Given the description of an element on the screen output the (x, y) to click on. 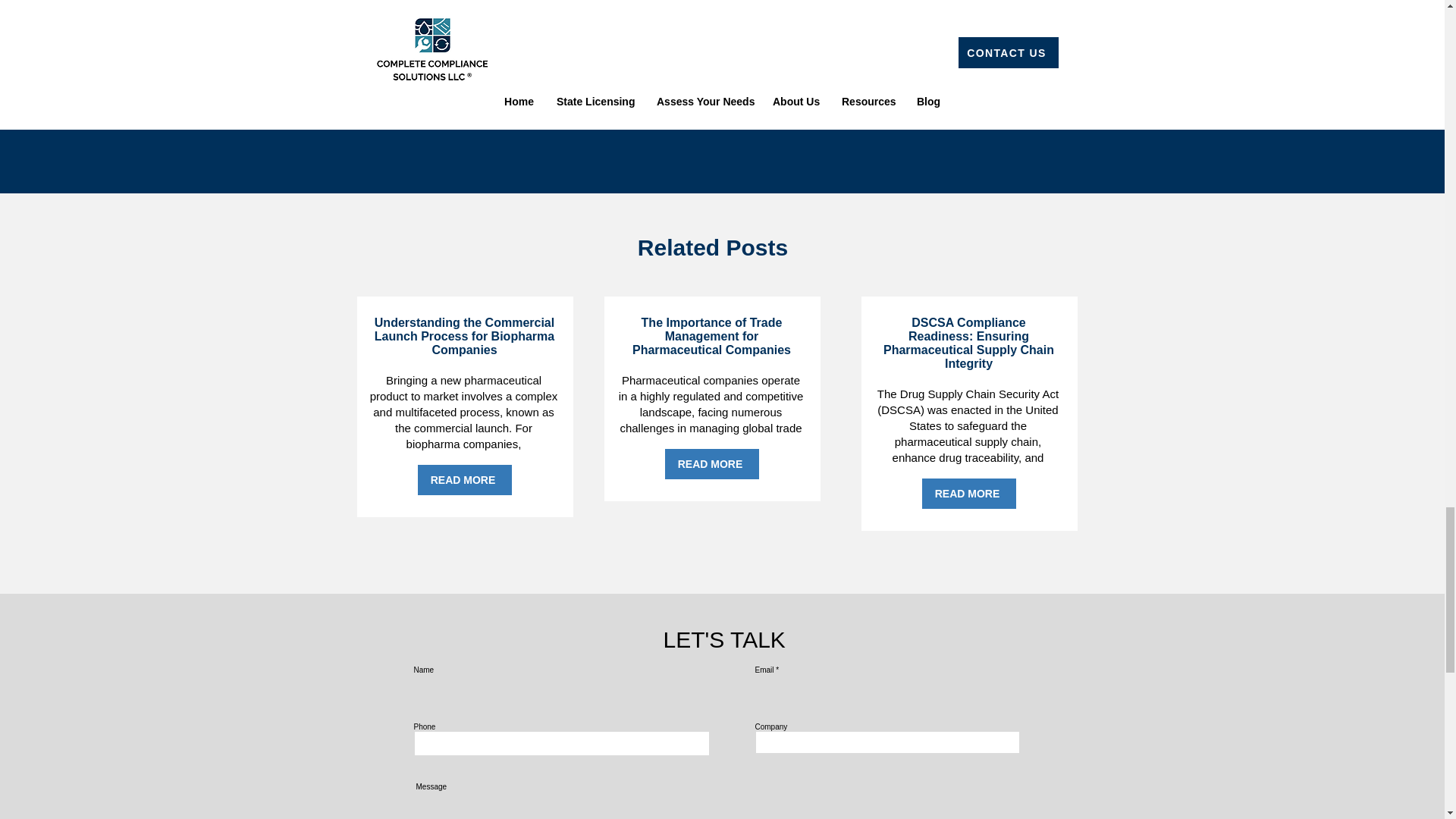
READ MORE (710, 463)
READ MORE (968, 493)
READ MORE (463, 480)
